Given the description of an element on the screen output the (x, y) to click on. 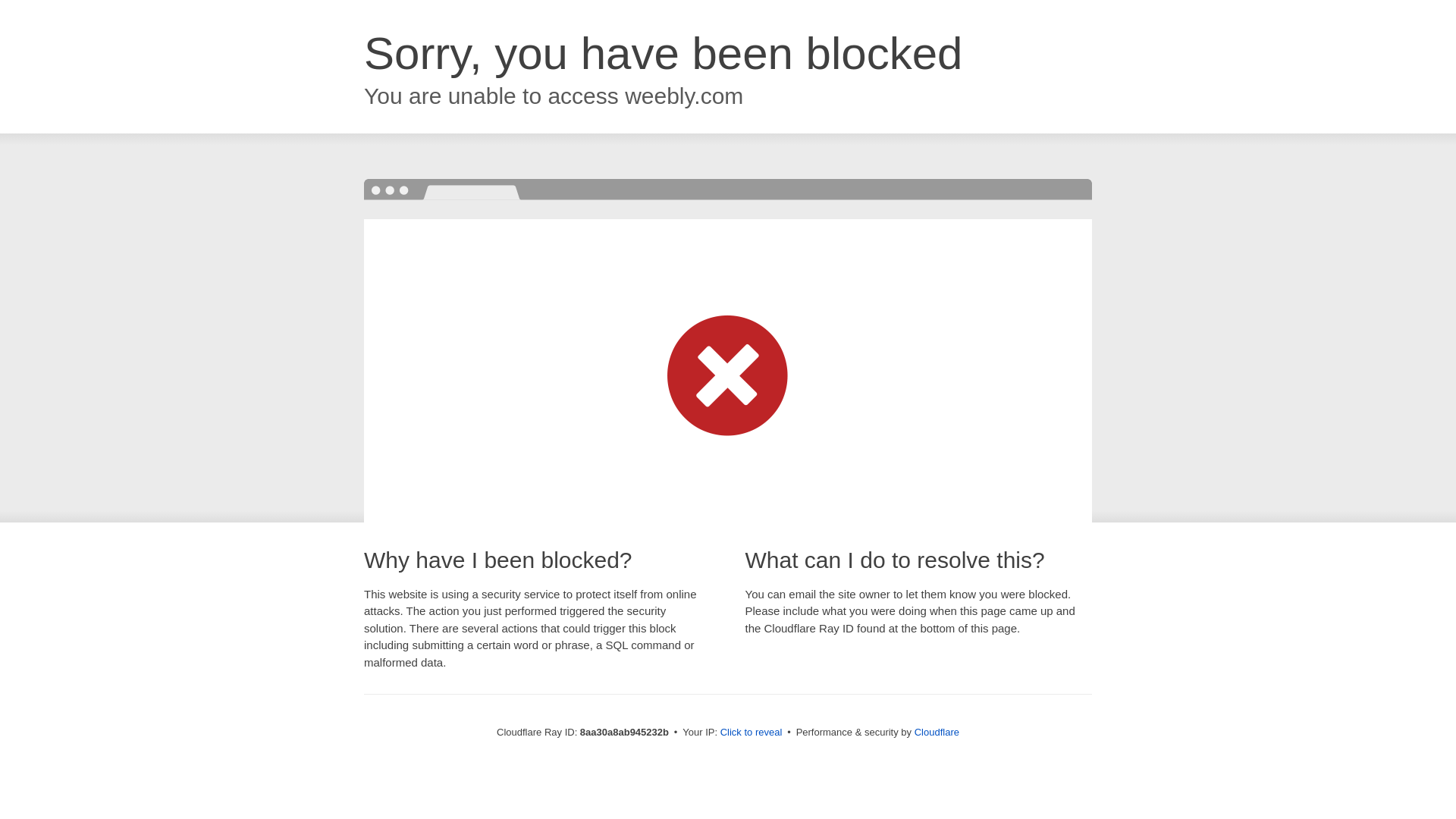
Click to reveal (751, 732)
Cloudflare (936, 731)
